Given the description of an element on the screen output the (x, y) to click on. 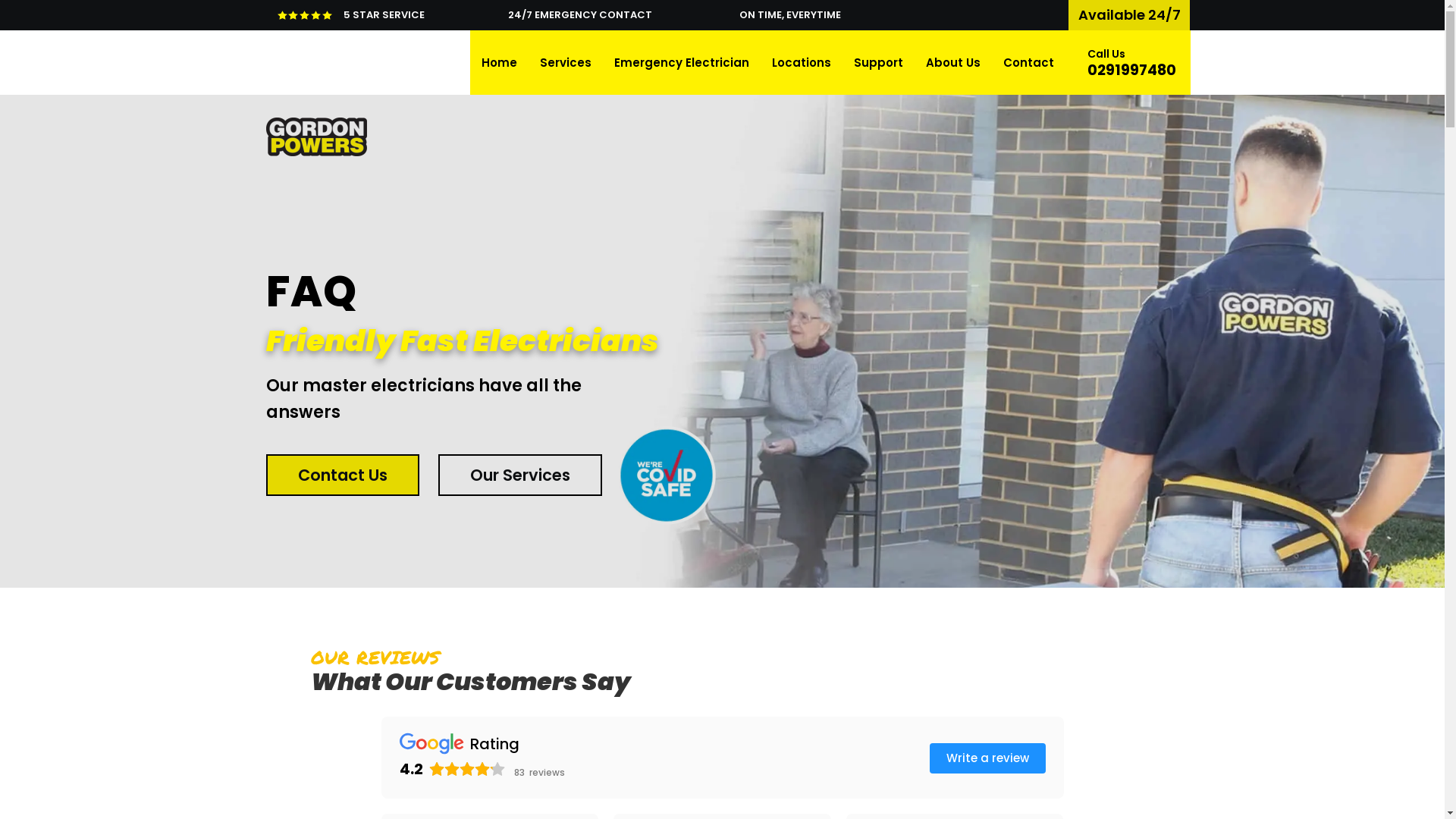
Home Element type: text (499, 62)
Call Us
0291997480 Element type: text (1130, 62)
Contact Us Element type: text (341, 475)
Services Element type: text (564, 62)
About Us Element type: text (952, 62)
Locations Element type: text (800, 62)
Emergency Electrician Element type: text (680, 62)
Support Element type: text (877, 62)
Our Services Element type: text (520, 475)
Write a review Element type: text (987, 758)
Contact Element type: text (1028, 62)
